Given the description of an element on the screen output the (x, y) to click on. 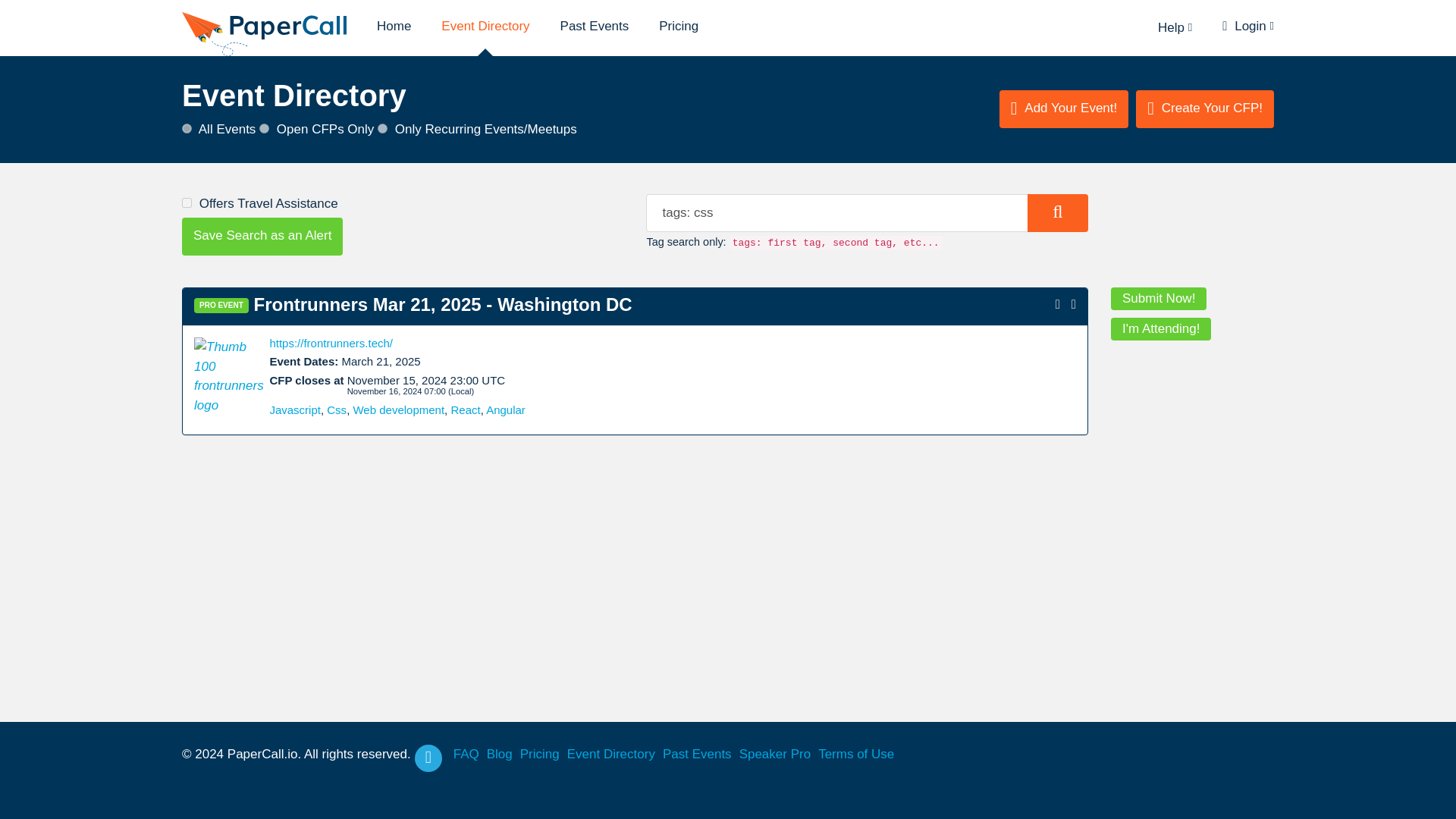
Event Directory (485, 25)
Create Your CFP! (1204, 108)
PRO EVENT (220, 305)
Login (1248, 25)
Web development (398, 409)
Frontrunners Mar 21, 2025 - Washington DC (442, 304)
Submit Now! (1158, 298)
Pricing (678, 25)
FAQ (465, 753)
tags: css (866, 212)
Help (1174, 26)
Save Search as an Alert (262, 236)
Home (393, 25)
Angular (505, 409)
React (464, 409)
